Given the description of an element on the screen output the (x, y) to click on. 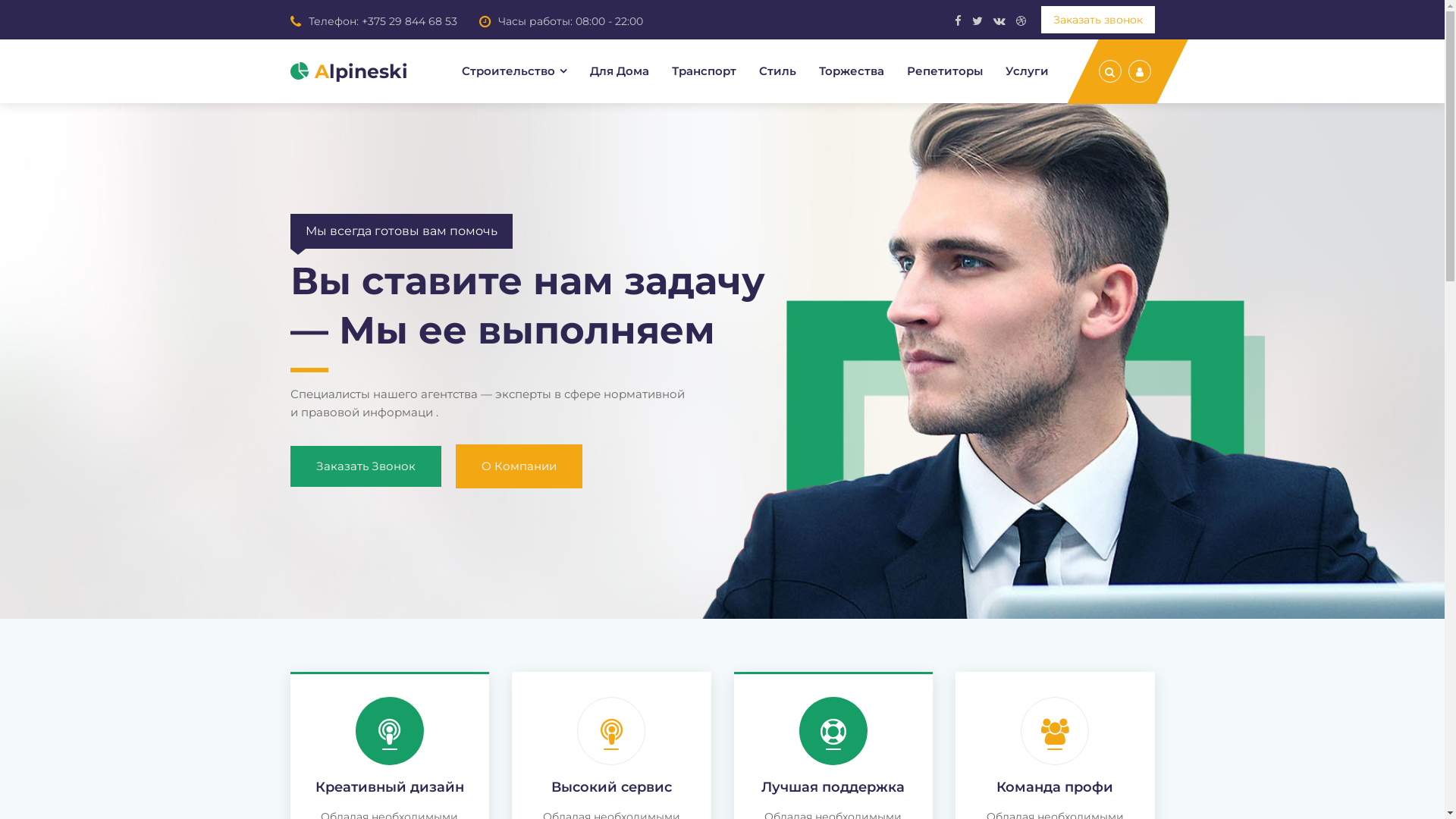
Alpineski Element type: text (348, 70)
